Given the description of an element on the screen output the (x, y) to click on. 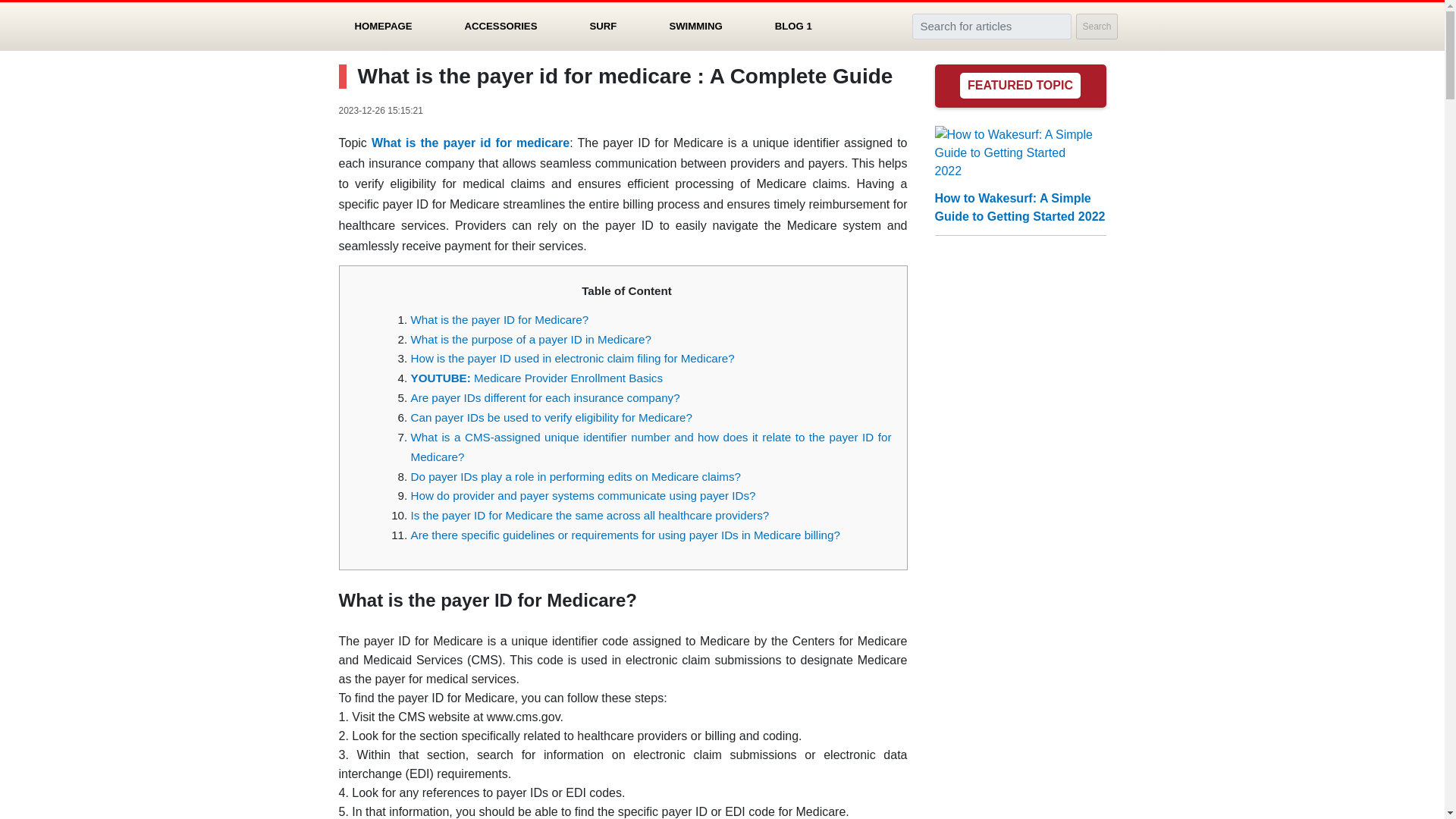
SWIMMING (694, 26)
What is the payer id for medicare (470, 142)
HOMEPAGE (383, 26)
What is the purpose of a payer ID in Medicare? (530, 338)
SURF (603, 26)
ACCESSORIES (500, 26)
Search (1095, 26)
Blog 1 (793, 26)
What is the payer ID for Medicare? (499, 318)
Search (1095, 26)
BLOG 1 (793, 26)
Are payer IDs different for each insurance company? (544, 397)
